Given the description of an element on the screen output the (x, y) to click on. 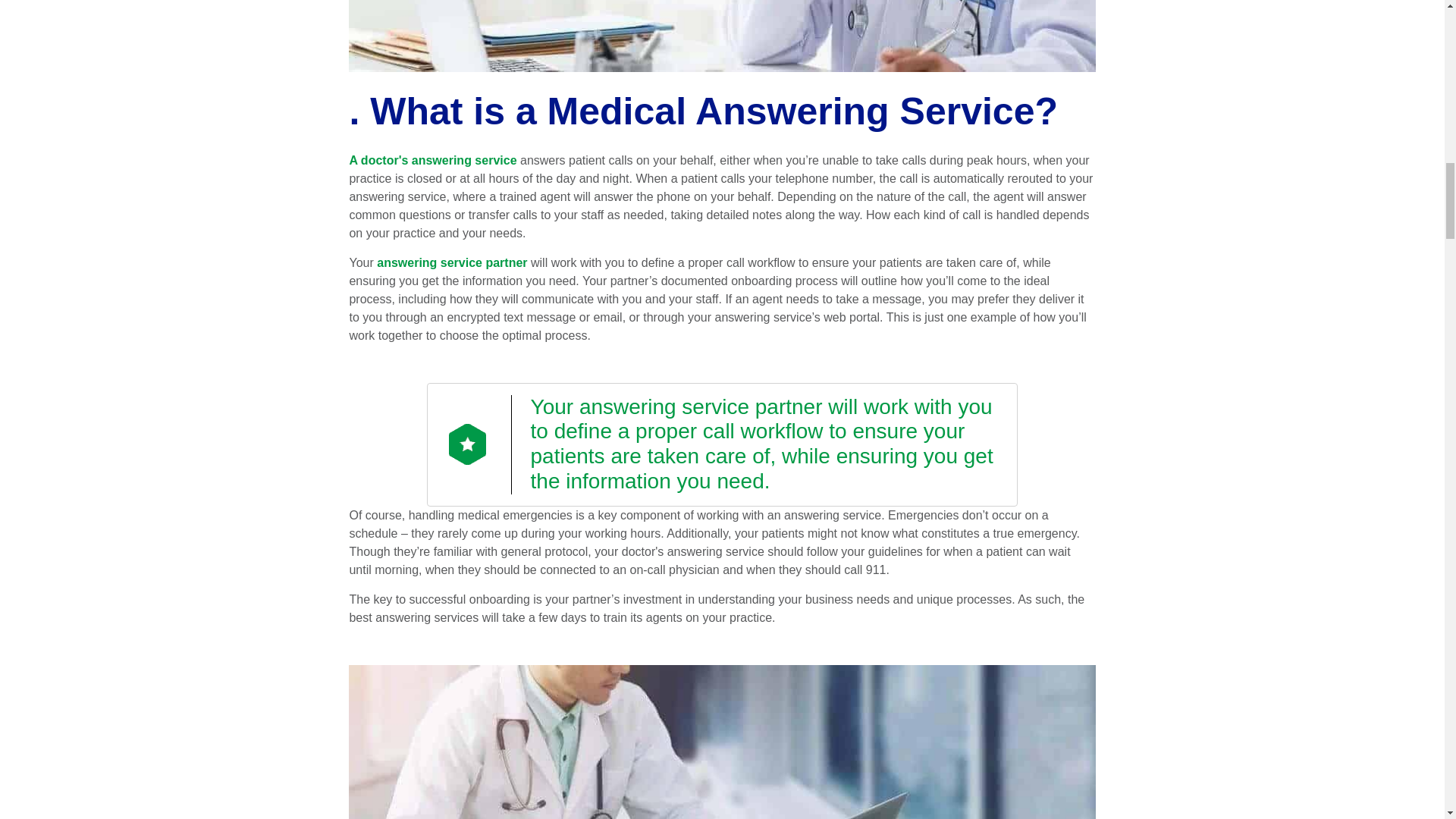
answering service partner (452, 262)
A doctor's answering service (432, 160)
